Given the description of an element on the screen output the (x, y) to click on. 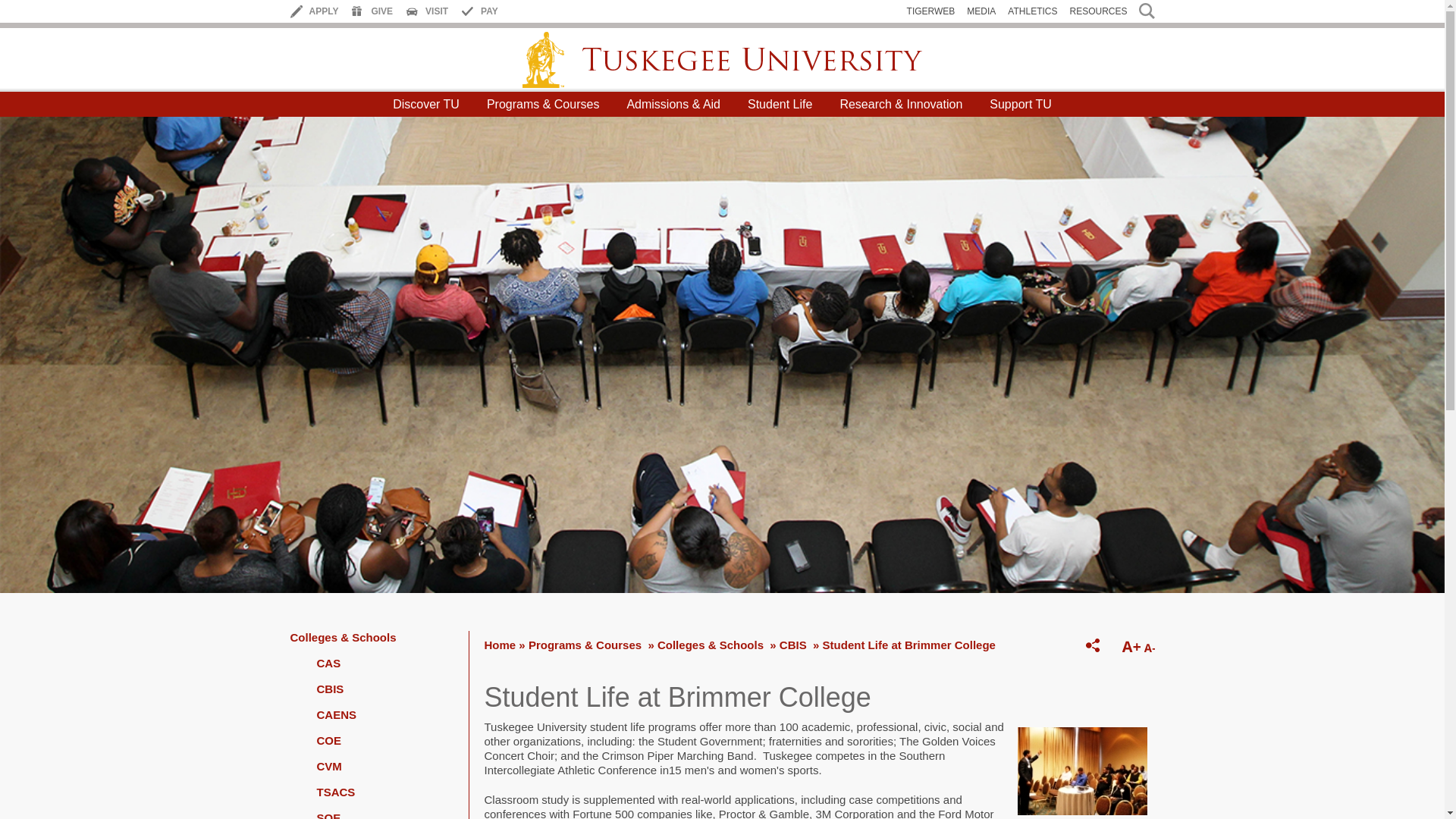
MEDIA (980, 10)
VISIT (436, 10)
TIGERWEB (931, 10)
PAY (488, 10)
APPLY (323, 10)
Tuskegee University (721, 59)
GIVE (382, 10)
RESOURCES (1097, 10)
ATHLETICS (1032, 10)
